Given the description of an element on the screen output the (x, y) to click on. 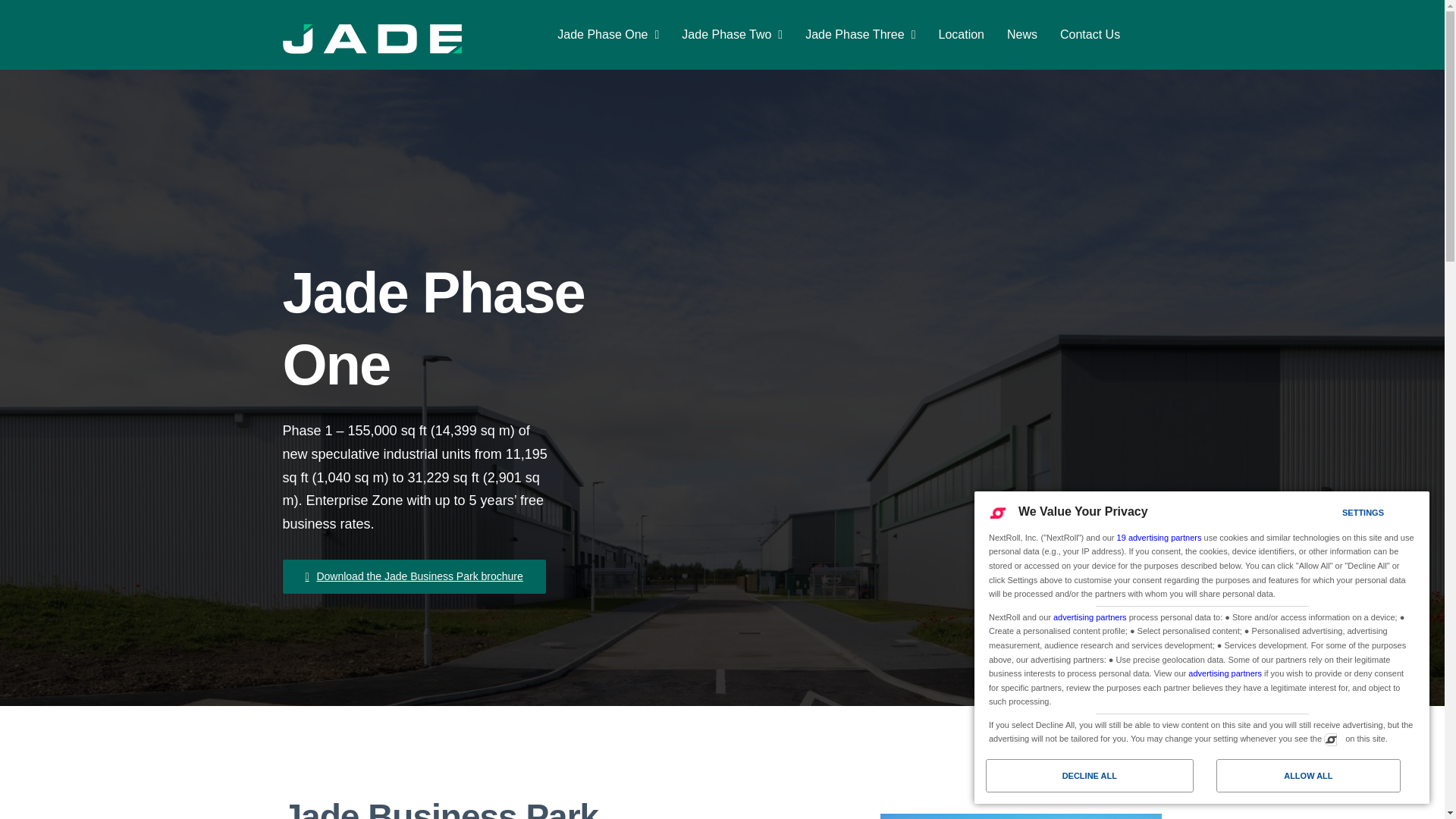
Jade Phase Three (860, 34)
Jade Phase One (608, 34)
Jade Phase Two (732, 34)
Manage consent preferences (1330, 739)
